Given the description of an element on the screen output the (x, y) to click on. 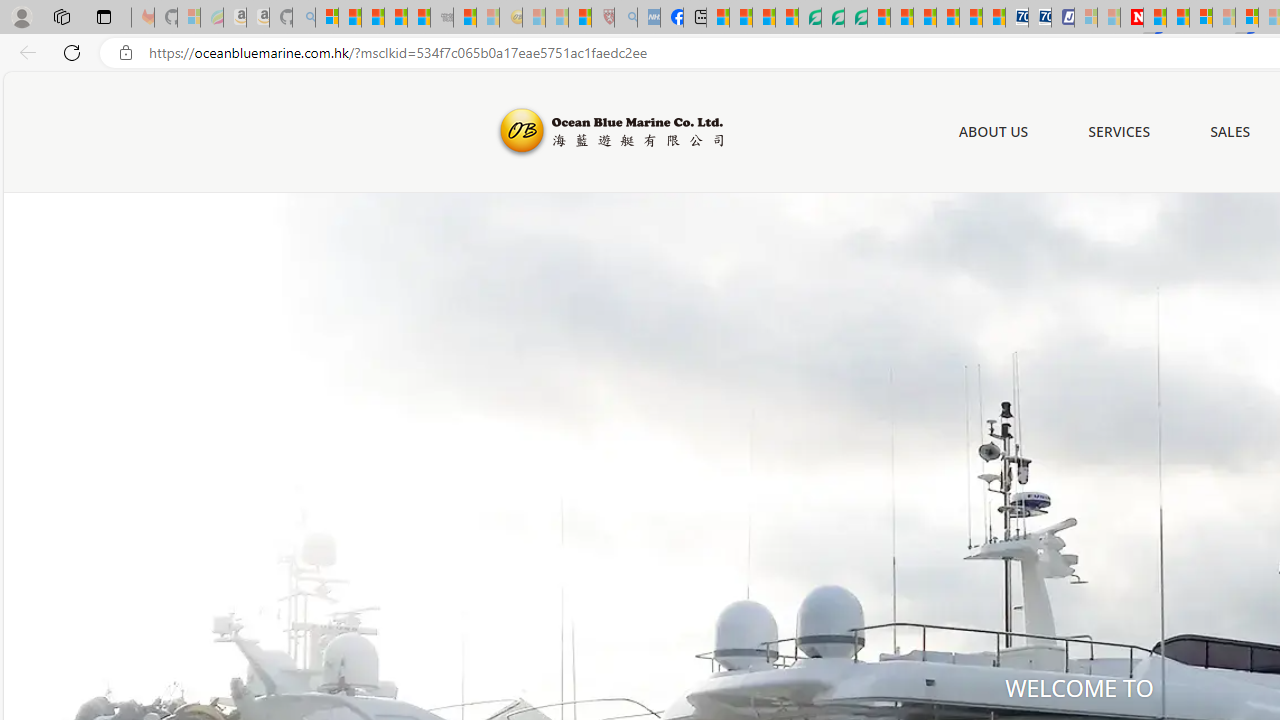
Cheap Hotels - Save70.com (1039, 17)
Latest Politics News & Archive | Newsweek.com (1132, 17)
Ocean Blue Marine (608, 132)
Microsoft Word - consumer-privacy address update 2.2021 (855, 17)
